Given the description of an element on the screen output the (x, y) to click on. 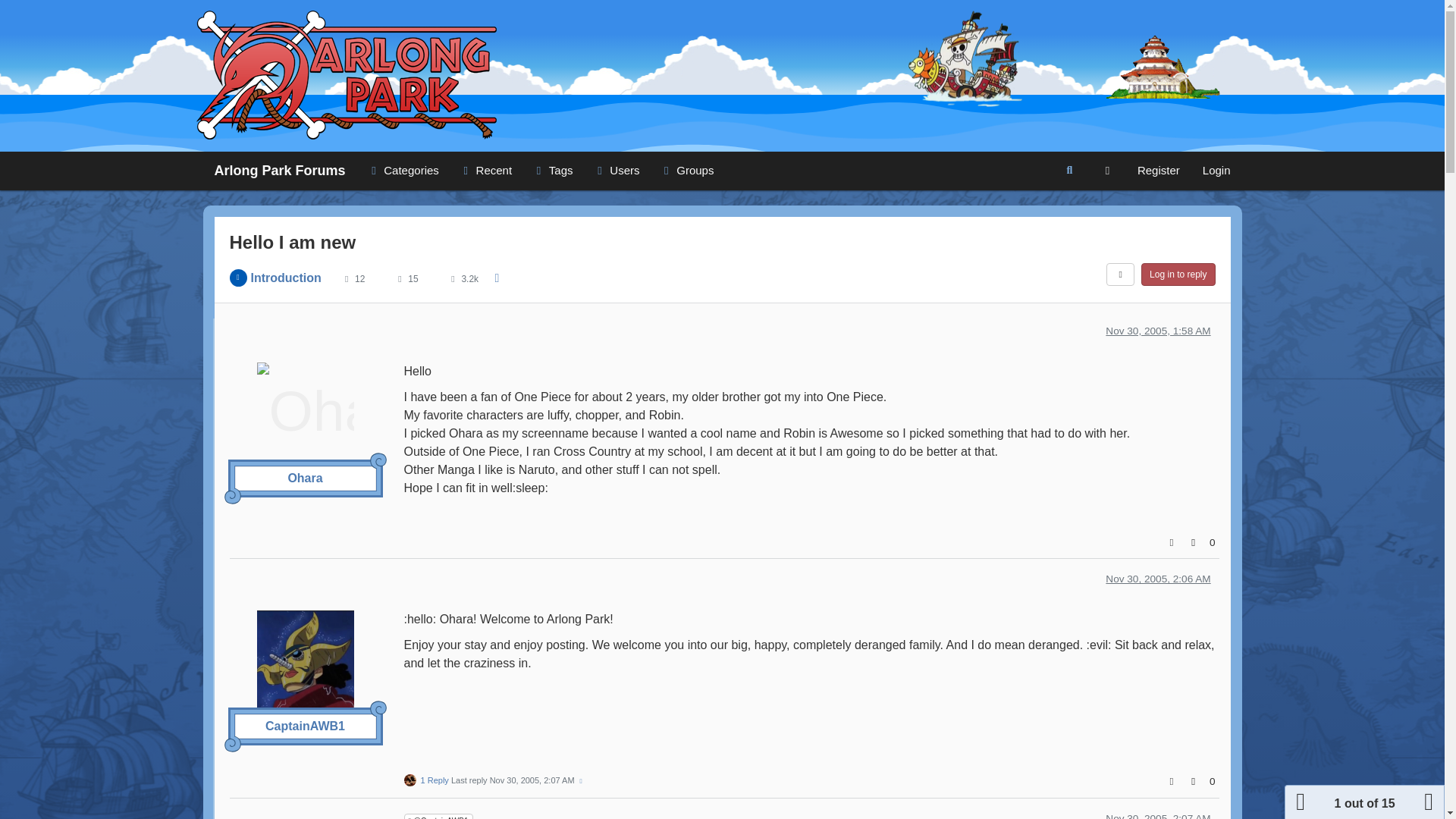
Search (1069, 170)
Register (1158, 170)
Tags (551, 170)
Categories (402, 170)
Users (616, 170)
spiral (232, 743)
spiral (378, 709)
Introduction (285, 277)
Groups (686, 170)
spiral (232, 495)
Recent (484, 170)
Log in to reply (1177, 273)
spiral (378, 460)
Login (1216, 170)
